Given the description of an element on the screen output the (x, y) to click on. 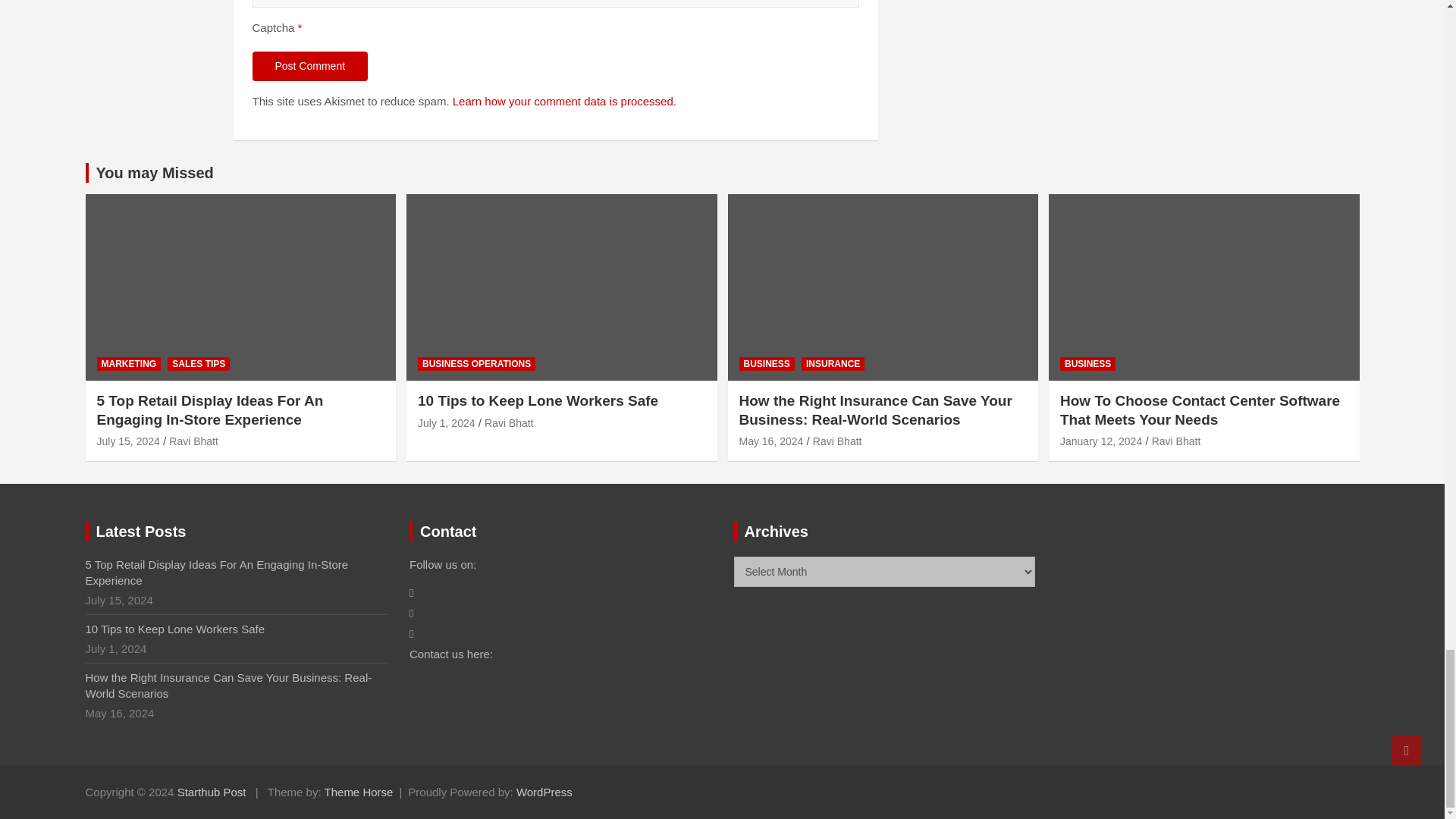
Post Comment (309, 66)
10 Tips to Keep Lone Workers Safe (446, 422)
WordPress (544, 791)
How To Choose Contact Center Software That Meets Your Needs (1100, 440)
Theme Horse (358, 791)
Starthub Post (211, 791)
